Given the description of an element on the screen output the (x, y) to click on. 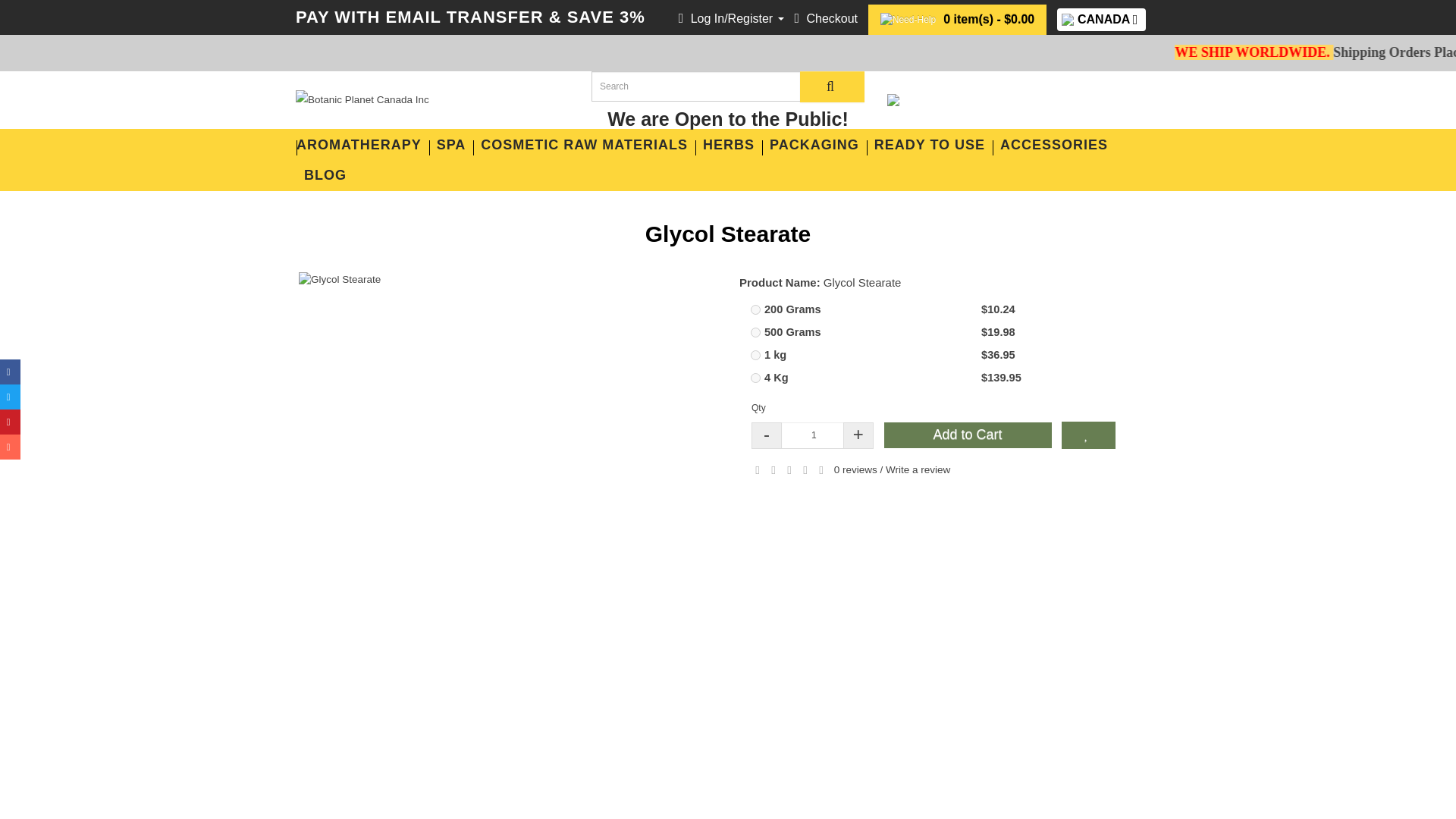
My Account (731, 18)
12145 (755, 309)
Glycol Stearate (505, 279)
Checkout (825, 18)
Botanic Planet Canada Inc (432, 99)
1 (813, 435)
Glycol Stearate (505, 278)
COSMETIC RAW MATERIALS (584, 144)
AROMATHERAPY (363, 144)
24777 (755, 355)
